Given the description of an element on the screen output the (x, y) to click on. 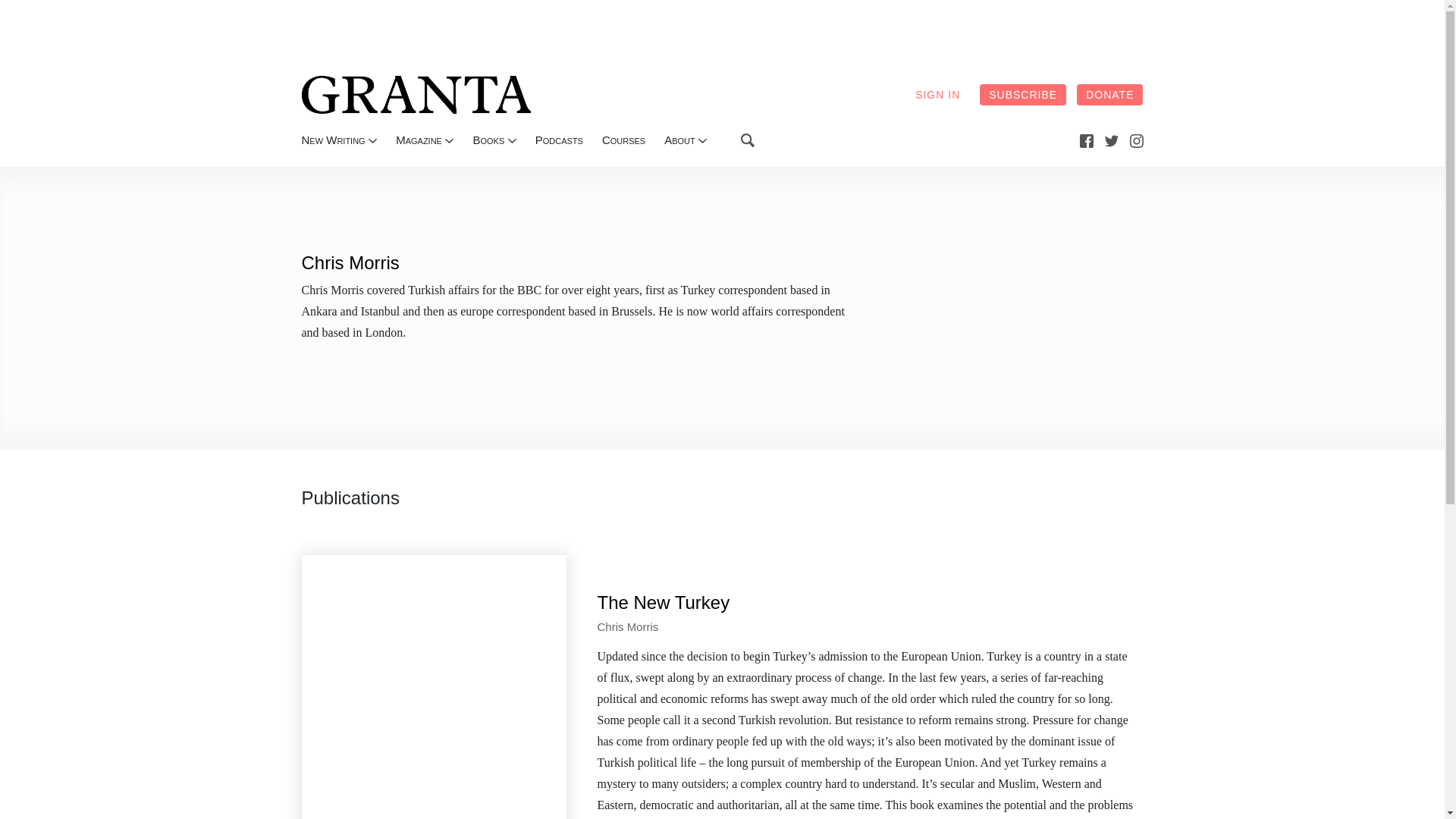
magazine (419, 139)
SIGN IN (937, 94)
podcasts (559, 139)
magnifying-glass Created with Sketch. (747, 140)
books (487, 139)
twitter Created with Sketch. (1111, 141)
New Writing (333, 139)
SUBSCRIBE (1022, 94)
about (679, 139)
facebook Created with Sketch. (1086, 141)
Magazine (419, 139)
Courses (623, 139)
videos (623, 139)
facebook Created with Sketch. (1086, 140)
instagram Created with Sketch. (1135, 141)
